Given the description of an element on the screen output the (x, y) to click on. 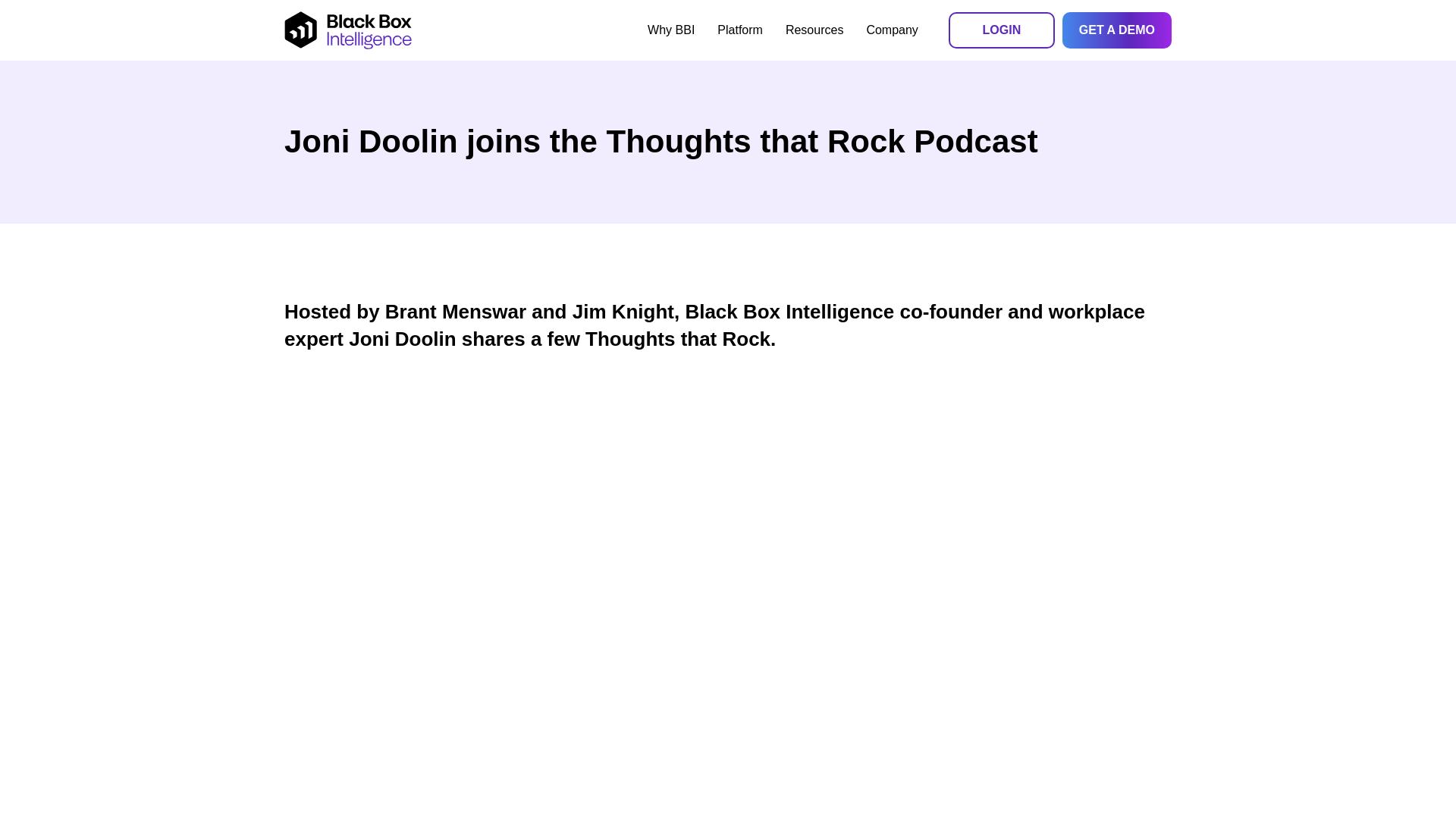
GET A DEMO (1117, 30)
Platform (739, 30)
Company (891, 30)
Why BBI (670, 30)
Resources (814, 30)
Joni Doolin joins the Thoughts that Rock Podcast (727, 141)
LOGIN (1001, 30)
